Given the description of an element on the screen output the (x, y) to click on. 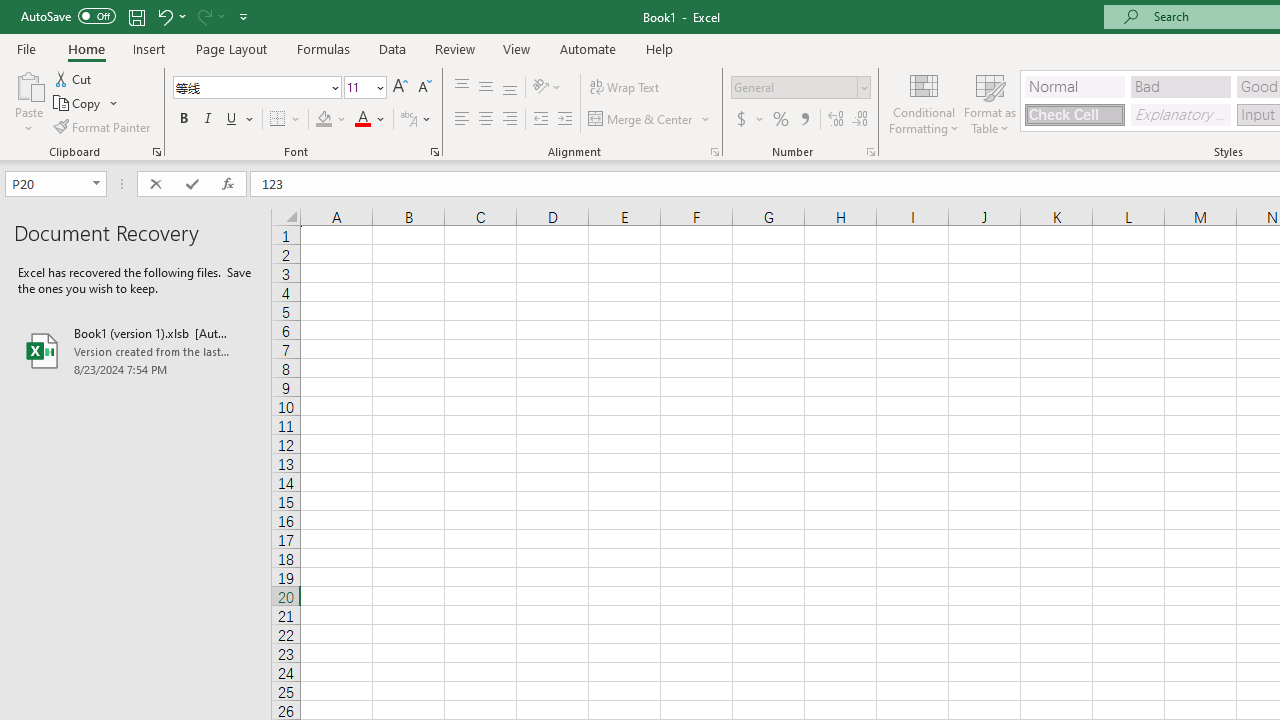
Underline (232, 119)
Middle Align (485, 87)
Format Painter (103, 126)
Center (485, 119)
Cut (73, 78)
Underline (239, 119)
Bold (183, 119)
Increase Indent (565, 119)
Fill Color (331, 119)
Show Phonetic Field (416, 119)
